Given the description of an element on the screen output the (x, y) to click on. 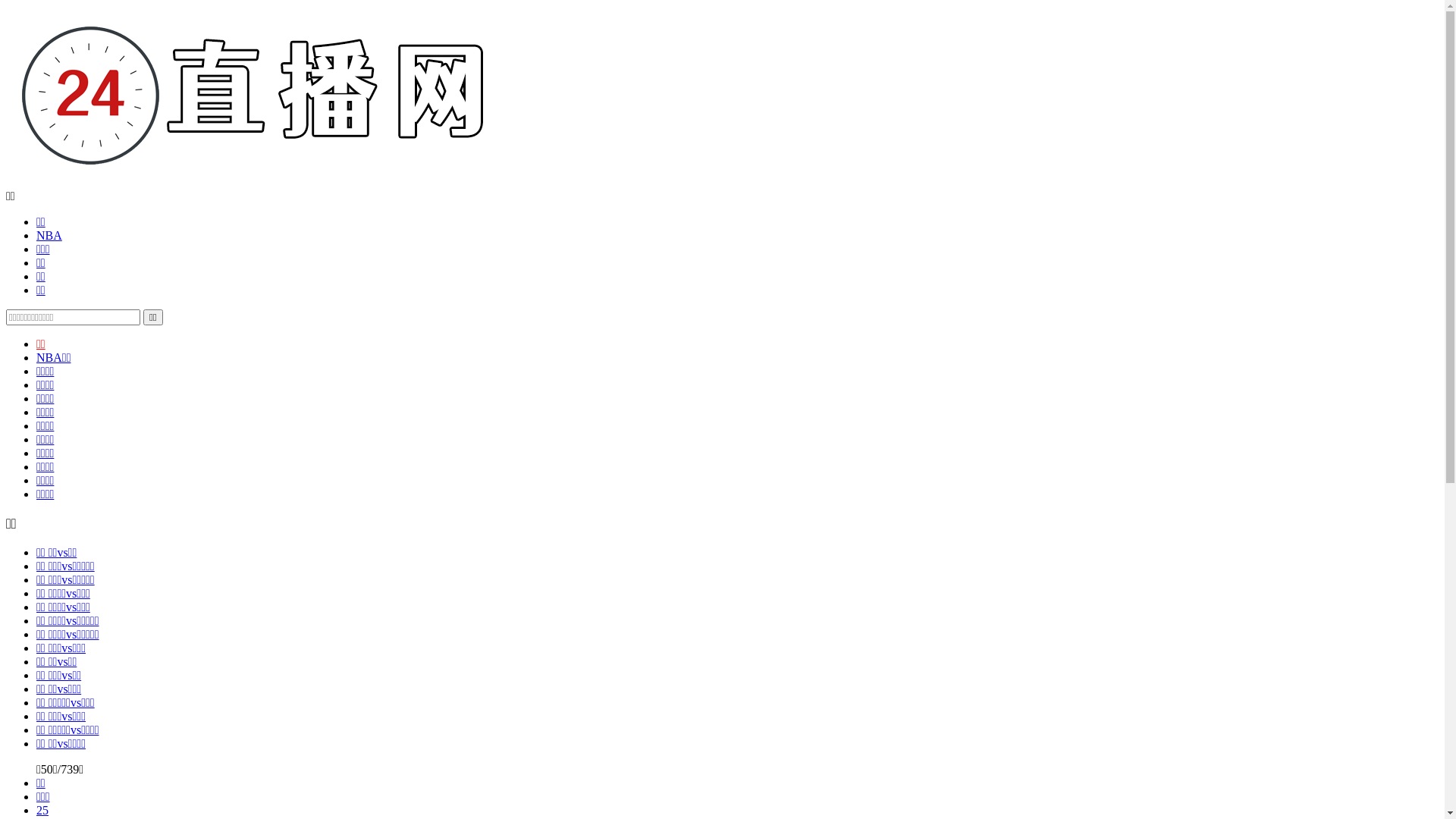
NBA Element type: text (49, 235)
25 Element type: text (42, 809)
